Given the description of an element on the screen output the (x, y) to click on. 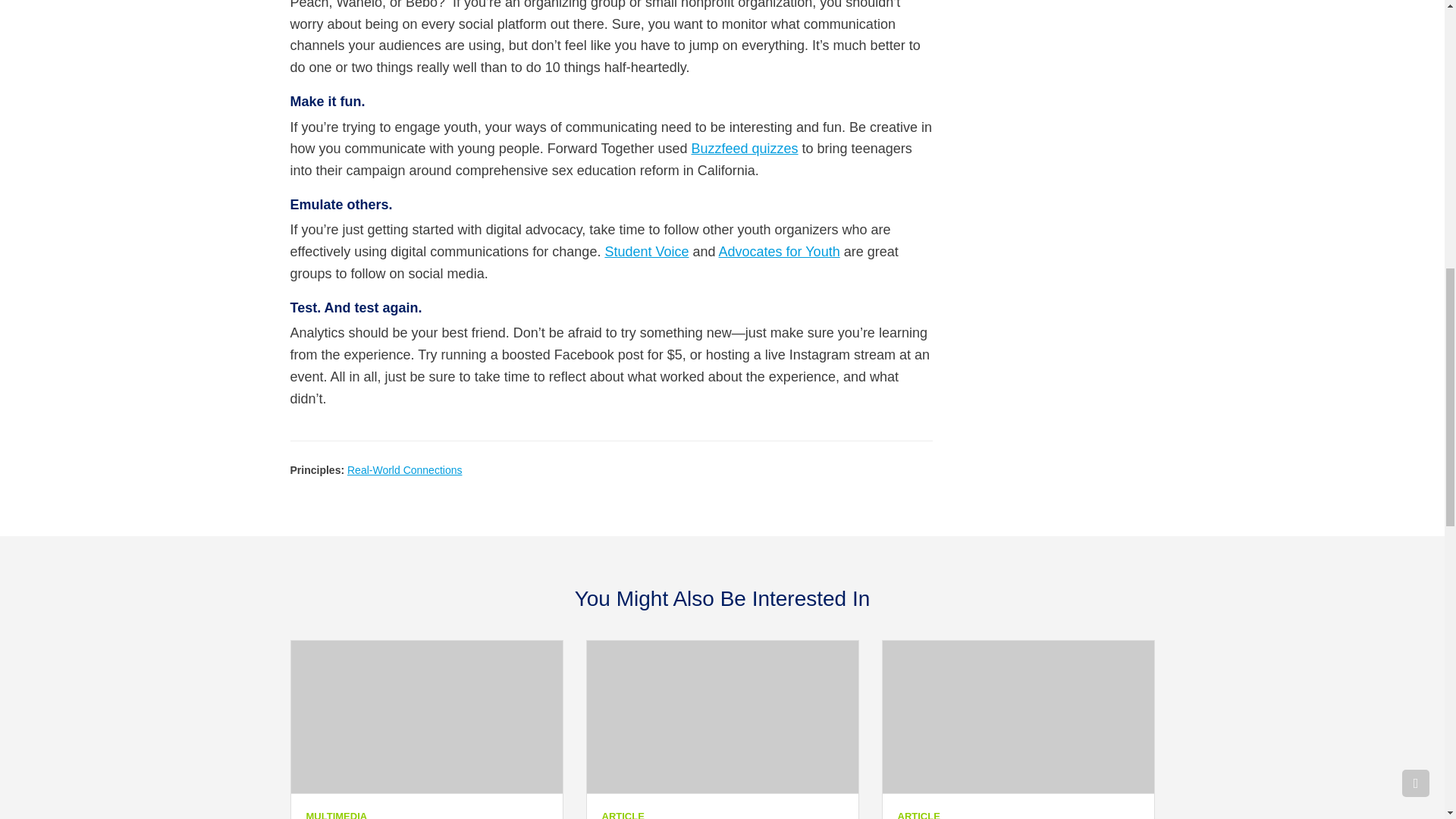
Student Voice (646, 251)
Buzzfeed quizzes (743, 148)
